Given the description of an element on the screen output the (x, y) to click on. 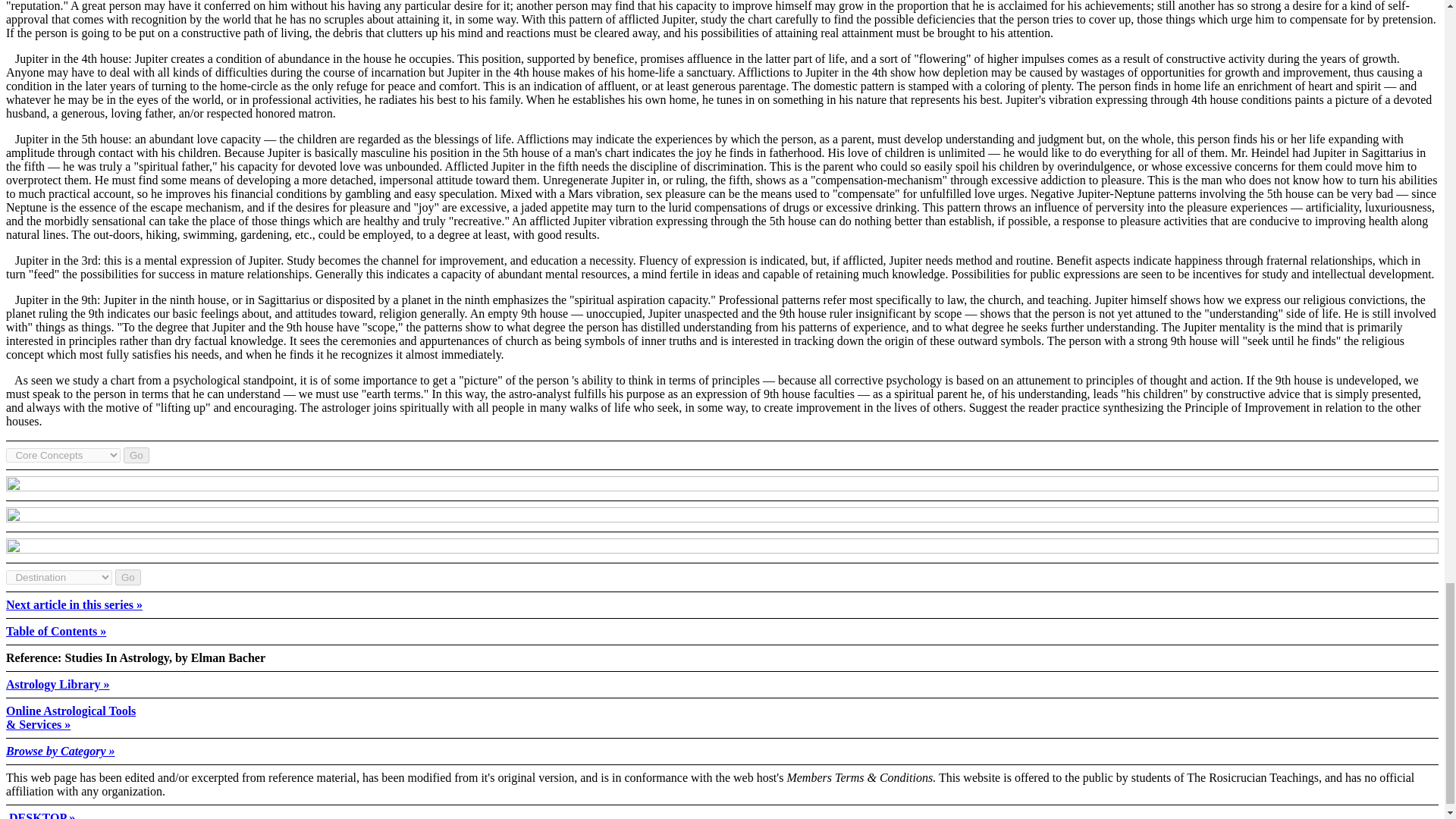
Go (136, 455)
Go (128, 577)
